Given the description of an element on the screen output the (x, y) to click on. 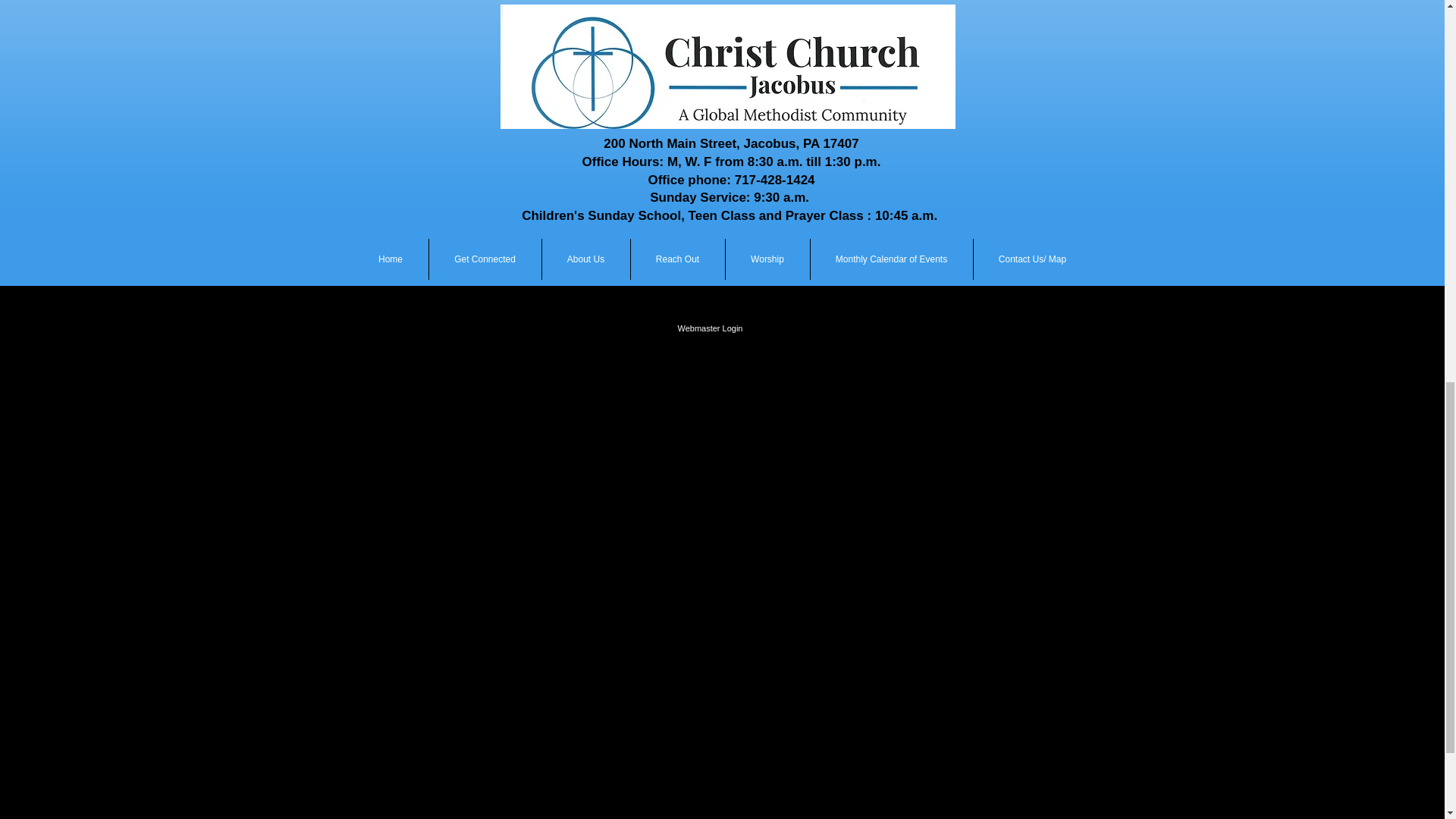
Webmaster Login (709, 327)
